Given the description of an element on the screen output the (x, y) to click on. 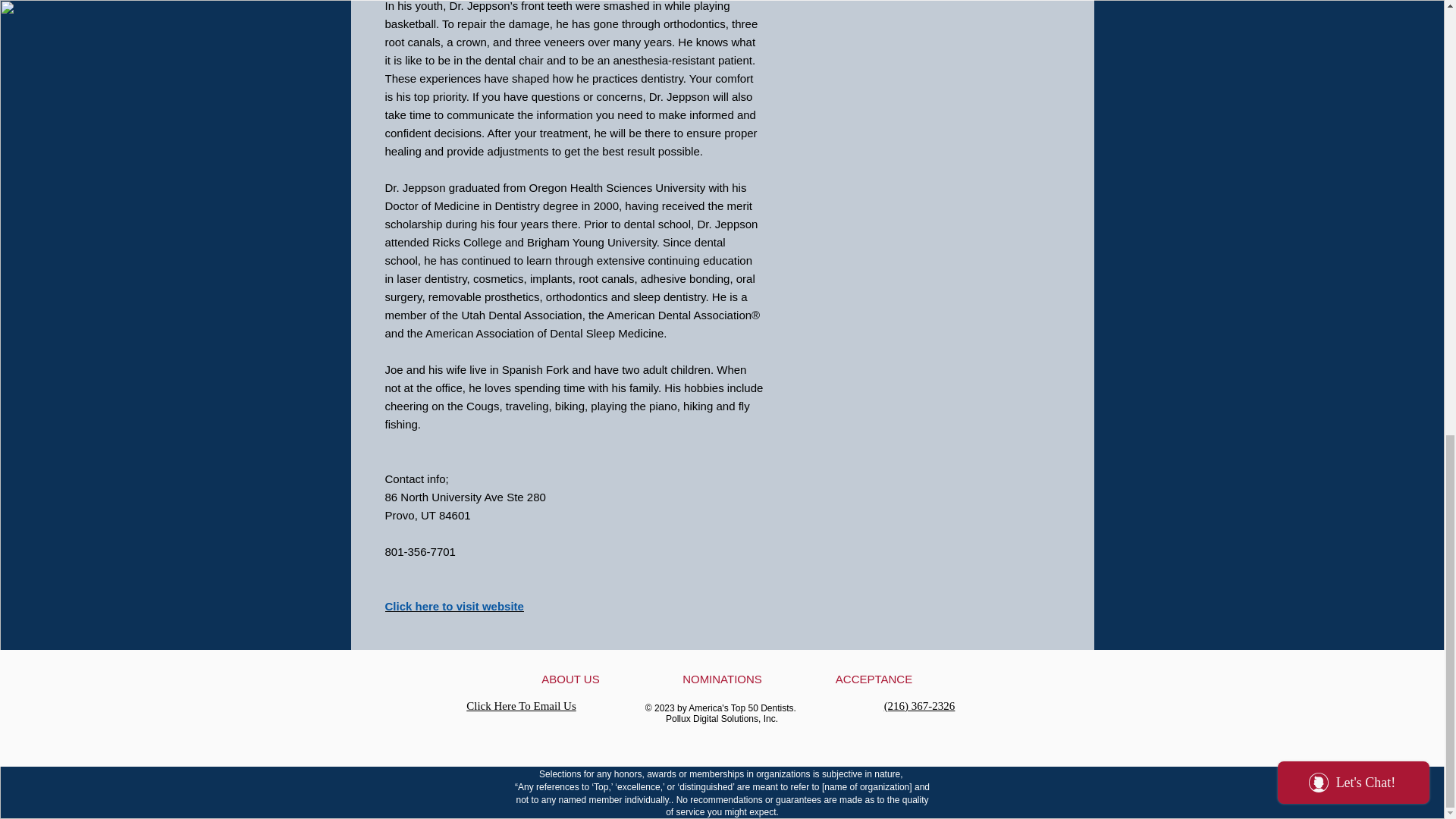
Click Here To Email Us (520, 705)
Click here to visit website (454, 605)
ACCEPTANCE (873, 678)
ABOUT US (570, 678)
NOMINATIONS (721, 678)
